Given the description of an element on the screen output the (x, y) to click on. 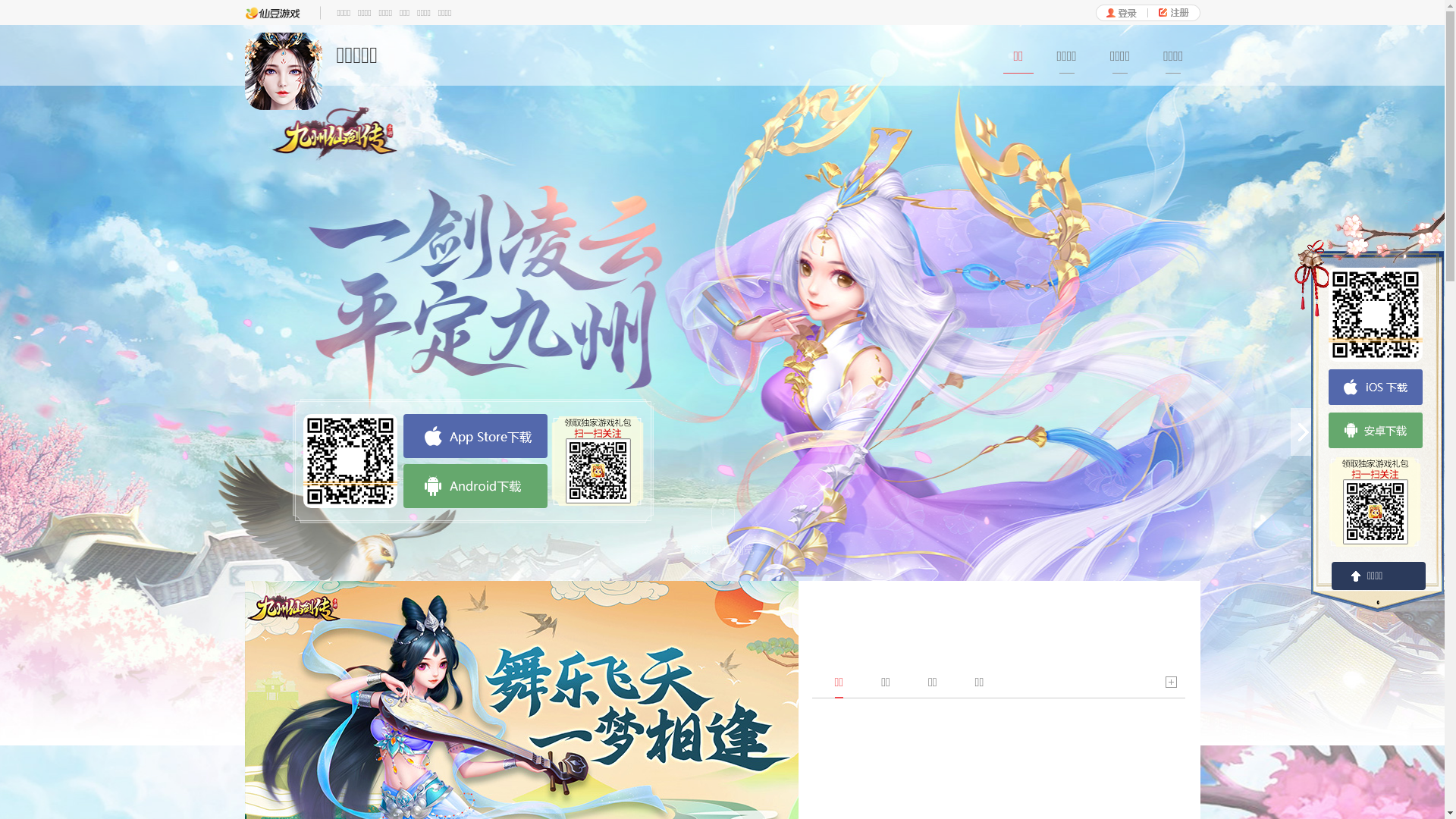
https://www.1122wan.com/game/download/jzxjz?user_id=0 Element type: hover (350, 461)
https://www.1122wan.com/game/download/jzxjz?user_id=0 Element type: hover (1375, 314)
